Given the description of an element on the screen output the (x, y) to click on. 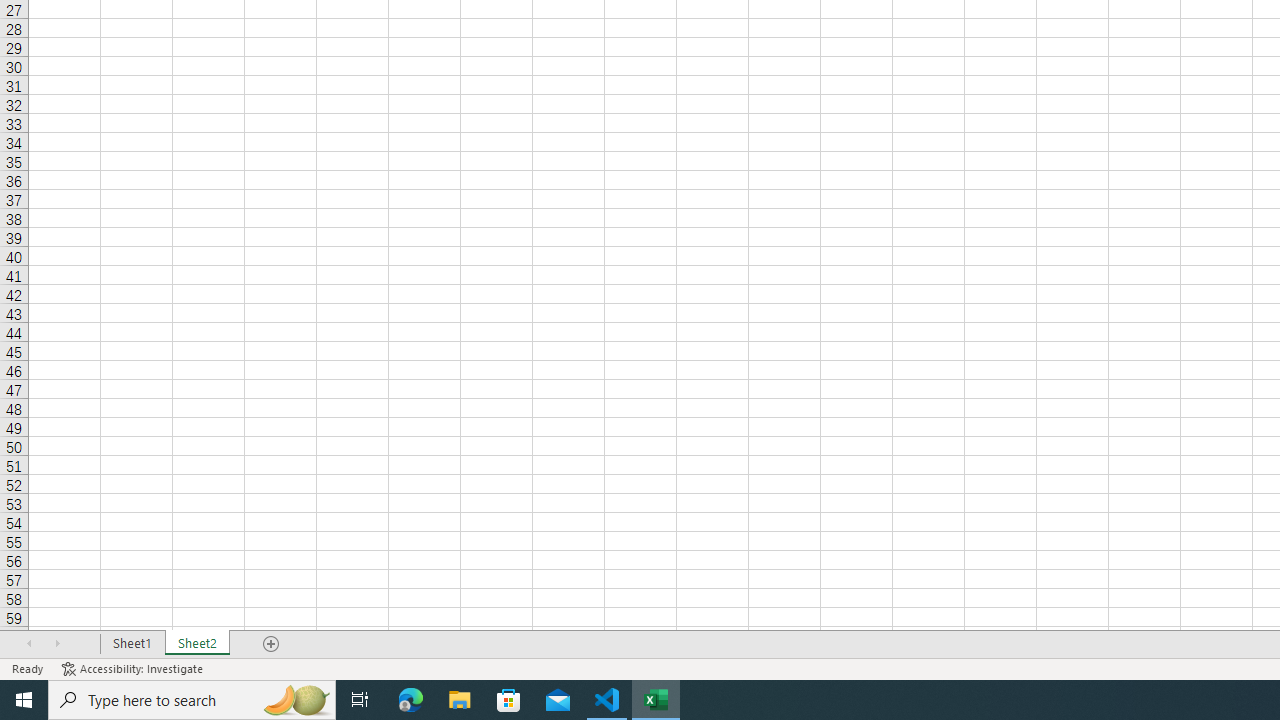
Accessibility Checker Accessibility: Investigate (134, 668)
Sheet2 (197, 644)
